Given the description of an element on the screen output the (x, y) to click on. 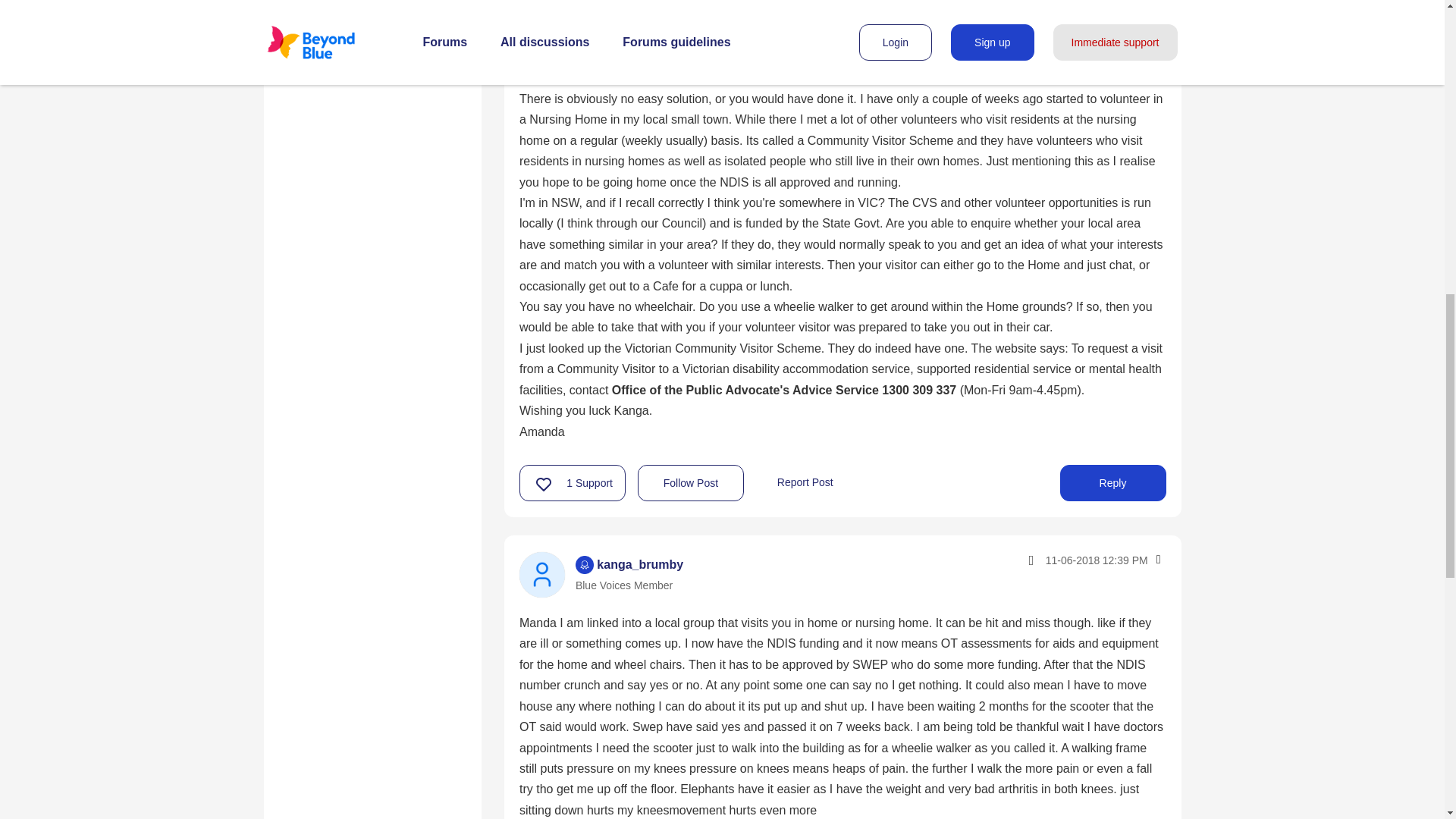
Guest8901 (541, 15)
Posted on (1063, 1)
Blue Voices Member (584, 4)
Blue Voices Member (584, 565)
Click here to give support to this post. (543, 484)
People like me (331, 49)
Caring for myself and others (372, 12)
